Given the description of an element on the screen output the (x, y) to click on. 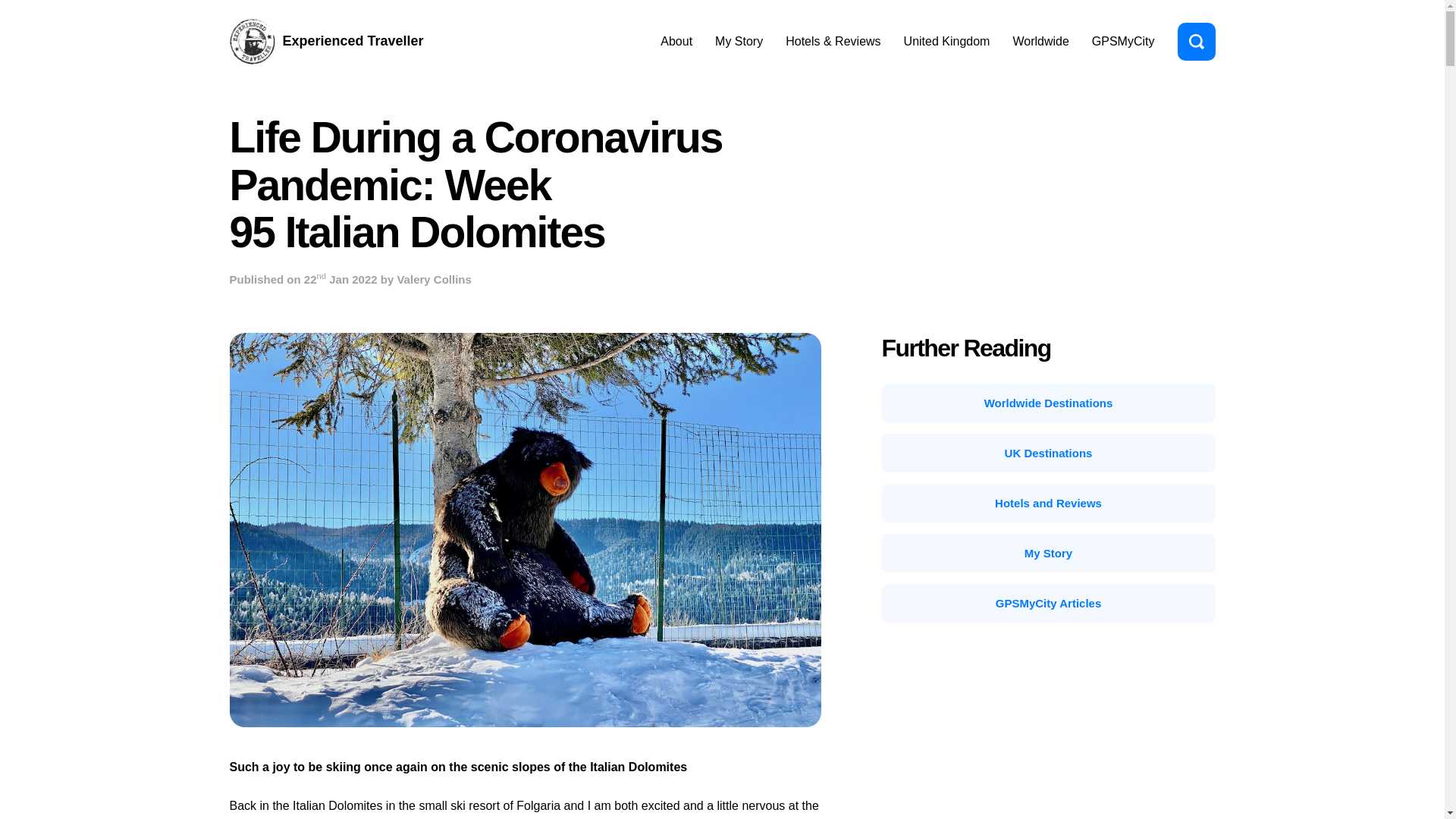
GPSMyCity Articles (1047, 602)
About (677, 41)
GPSMyCity (1123, 41)
My Story (738, 41)
Worldwide (1039, 41)
United Kingdom (947, 41)
Hotels and Reviews (1047, 503)
UK Destinations (1047, 453)
Worldwide Destinations (1047, 403)
My Story (1047, 552)
Experienced Traveller (325, 41)
